Given the description of an element on the screen output the (x, y) to click on. 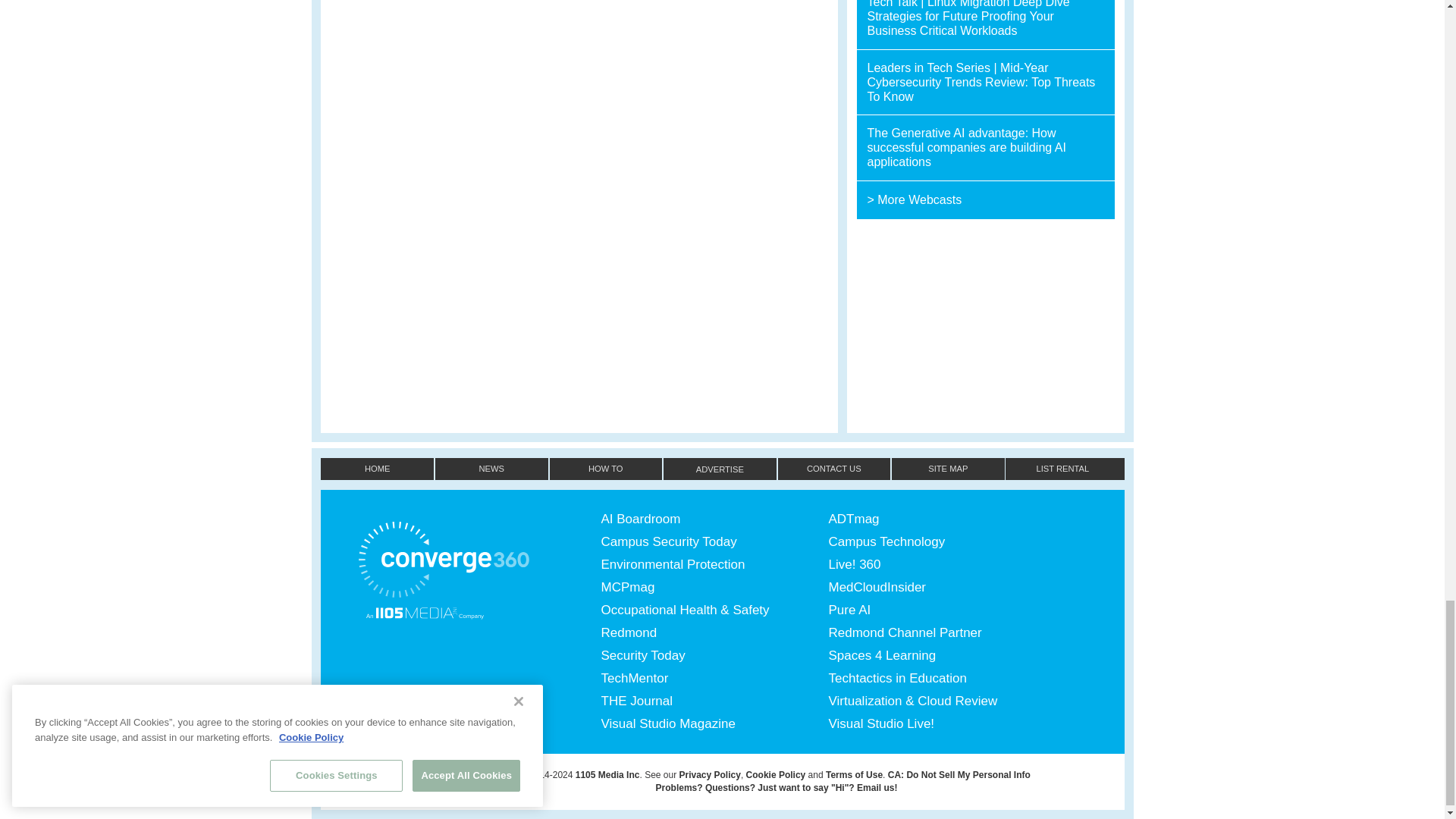
3rd party ad content (985, 325)
